Given the description of an element on the screen output the (x, y) to click on. 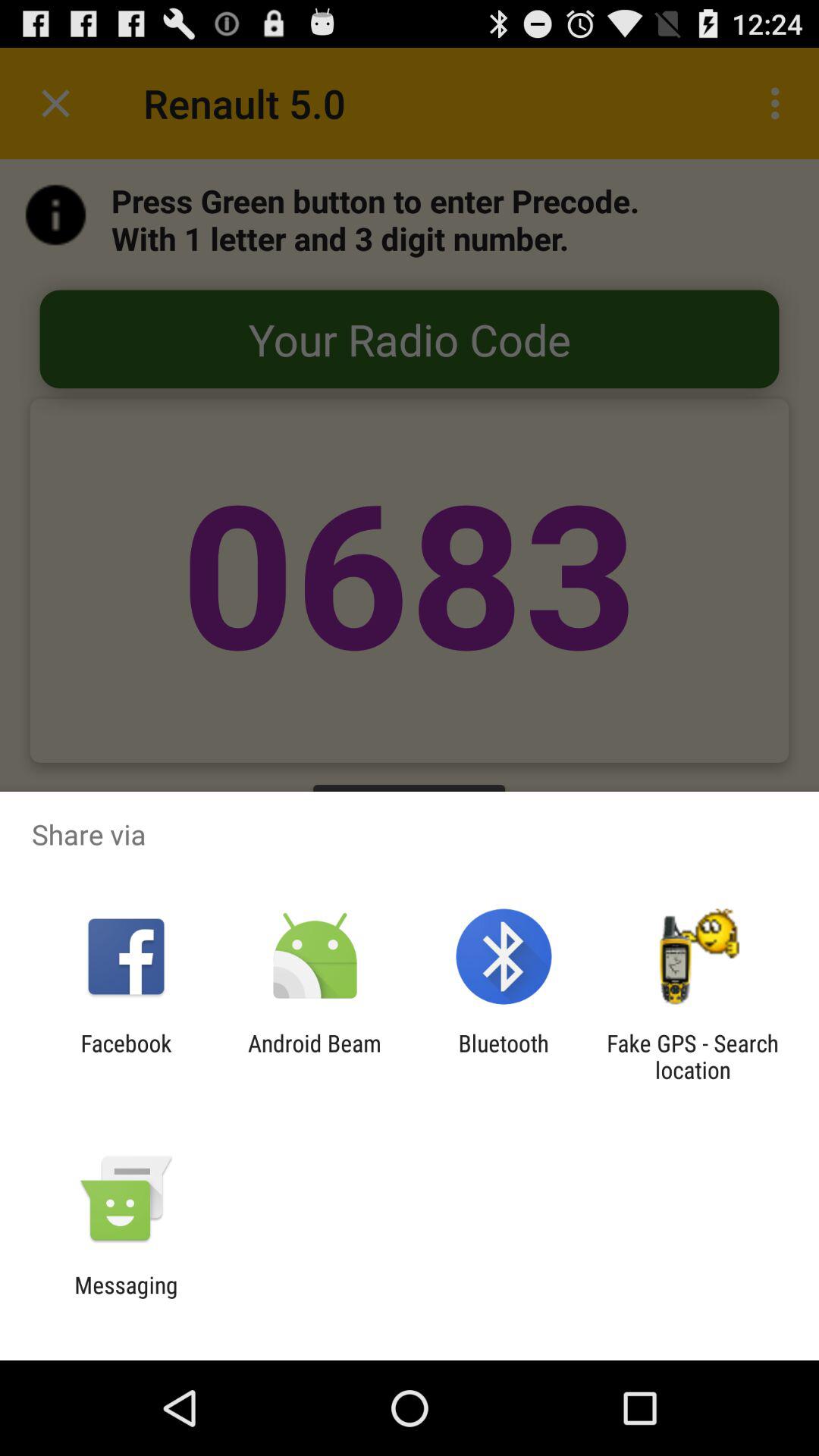
press the fake gps search item (692, 1056)
